Given the description of an element on the screen output the (x, y) to click on. 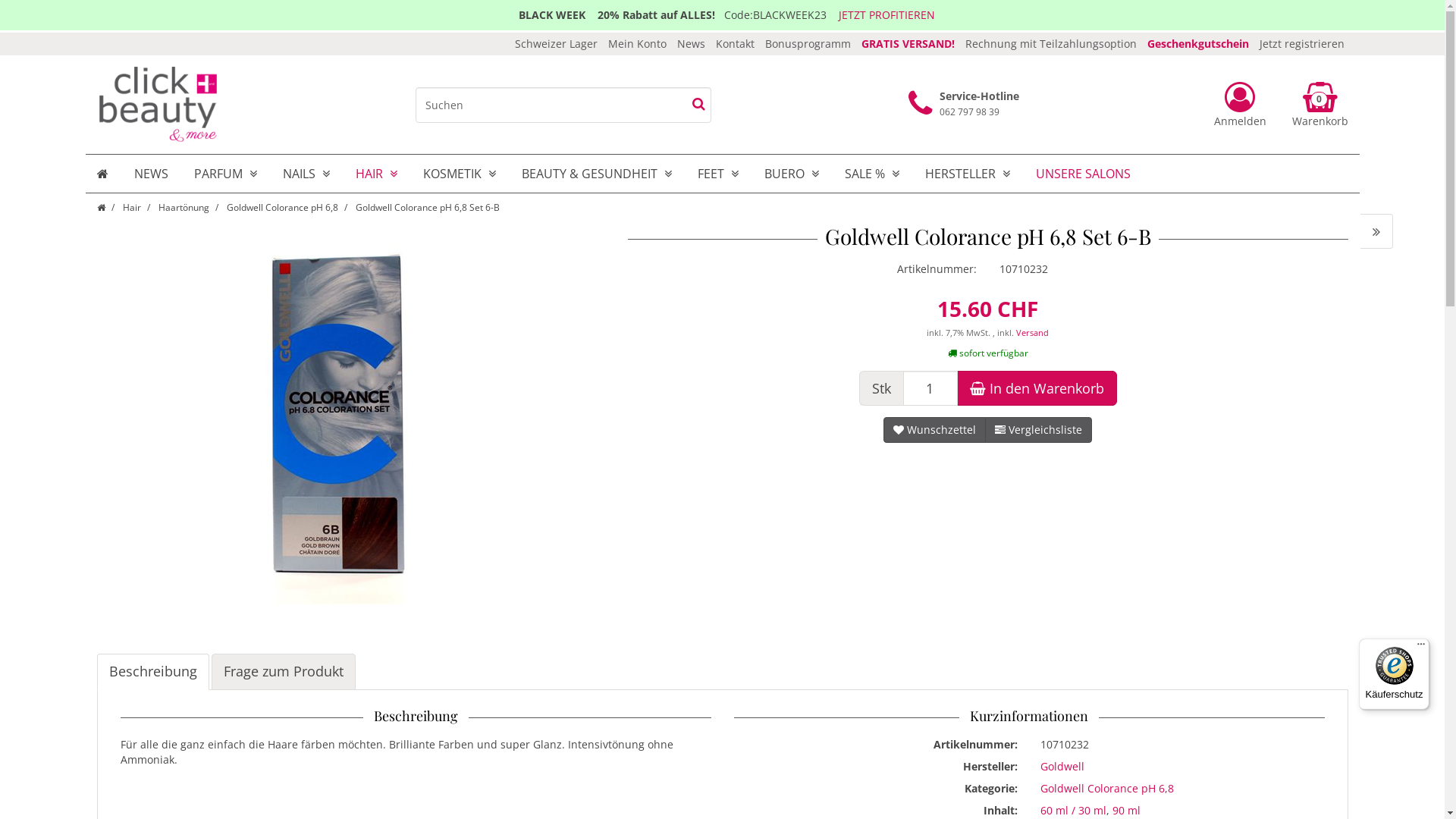
Jetzt registrieren Element type: text (1300, 43)
News Element type: text (690, 43)
Bonusprogramm Element type: text (807, 43)
Wunschzettel Element type: text (934, 429)
SALE % Element type: text (871, 173)
NEWS Element type: text (150, 173)
BUERO Element type: text (790, 173)
Rechnung mit Teilzahlungsoption Element type: text (1049, 43)
Hair Element type: text (131, 206)
UNSERE SALONS Element type: text (1082, 173)
Vergleichsliste Element type: text (1038, 429)
HERSTELLER Element type: text (966, 173)
90 ml Element type: text (1126, 810)
FEET Element type: text (717, 173)
Mein Konto Element type: text (637, 43)
BEAUTY & GESUNDHEIT Element type: text (595, 173)
Schweizer Lager Element type: text (555, 43)
Anmelden Element type: text (1245, 104)
Beschreibung Element type: text (153, 671)
GRATIS VERSAND! Element type: text (907, 43)
Goldwell Colorance pH 6,8 Element type: text (1106, 788)
Goldwell Colorance pH 6,8 Set 6-B Element type: text (426, 206)
Goldwell Colorance pH 6,8 Element type: text (281, 206)
Kontakt Element type: text (734, 43)
60 ml / 30 ml Element type: text (1073, 810)
click and beauty GmbH Element type: hover (158, 104)
NAILS Element type: text (306, 173)
Versand Element type: text (1032, 332)
Geschenkgutschein Element type: text (1197, 43)
In den Warenkorb Element type: text (1037, 387)
HAIR Element type: text (376, 173)
PARFUM Element type: text (224, 173)
0
Warenkorb Element type: text (1313, 104)
JETZT PROFITIEREN Element type: text (886, 14)
Startseite Element type: hover (101, 206)
Goldwell Colorance pH 6,8 Set 4-G Element type: hover (1376, 230)
Frage zum Produkt Element type: text (282, 671)
Goldwell Element type: text (1062, 766)
KOSMETIK Element type: text (458, 173)
